Given the description of an element on the screen output the (x, y) to click on. 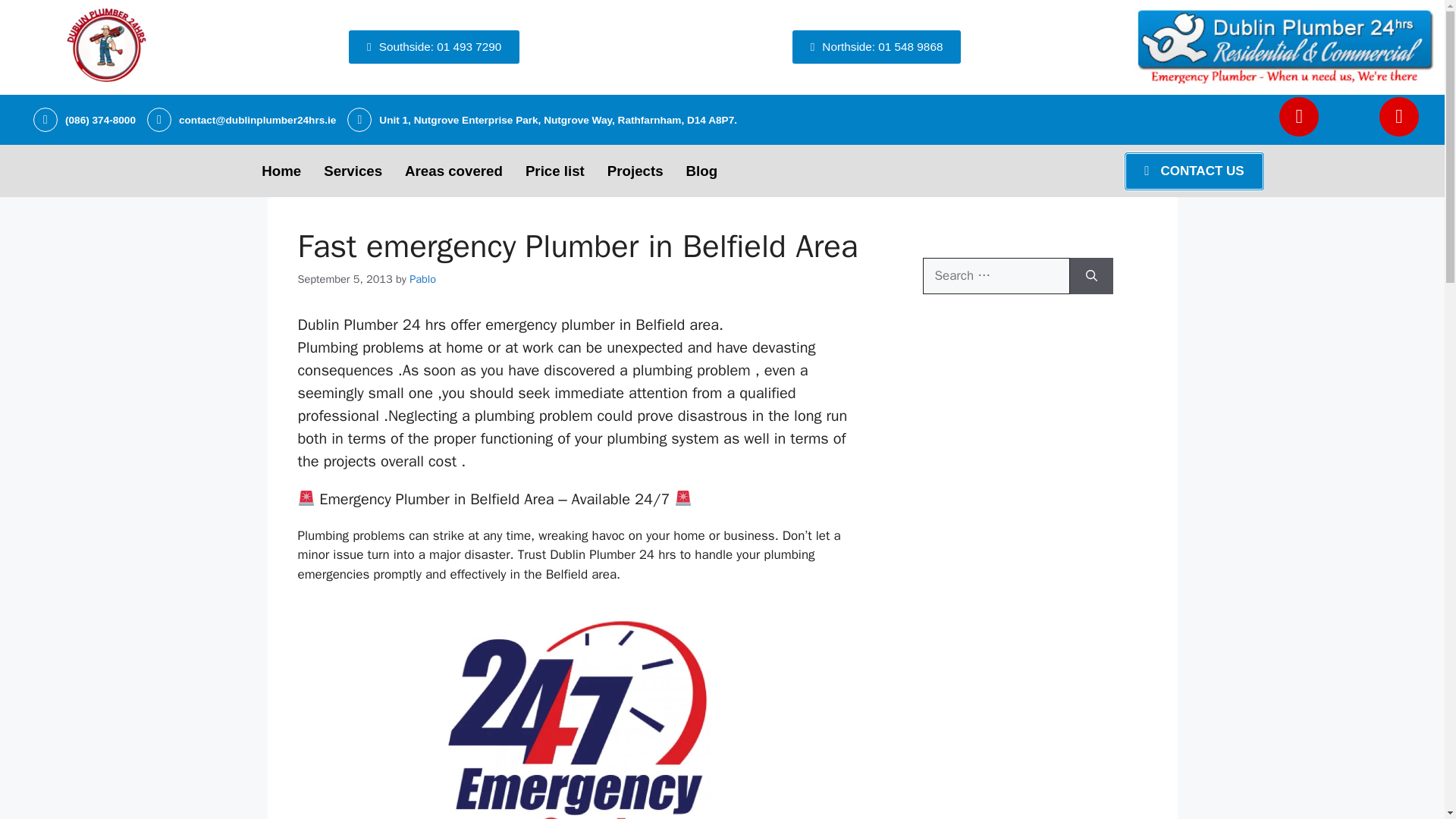
Services (352, 171)
Northside: 01 548 9868 (876, 46)
CONTACT US (1193, 170)
Blog (702, 171)
Home (280, 171)
Areas covered (453, 171)
Pablo (422, 278)
Southside: 01 493 7290 (434, 46)
Price list (554, 171)
